Given the description of an element on the screen output the (x, y) to click on. 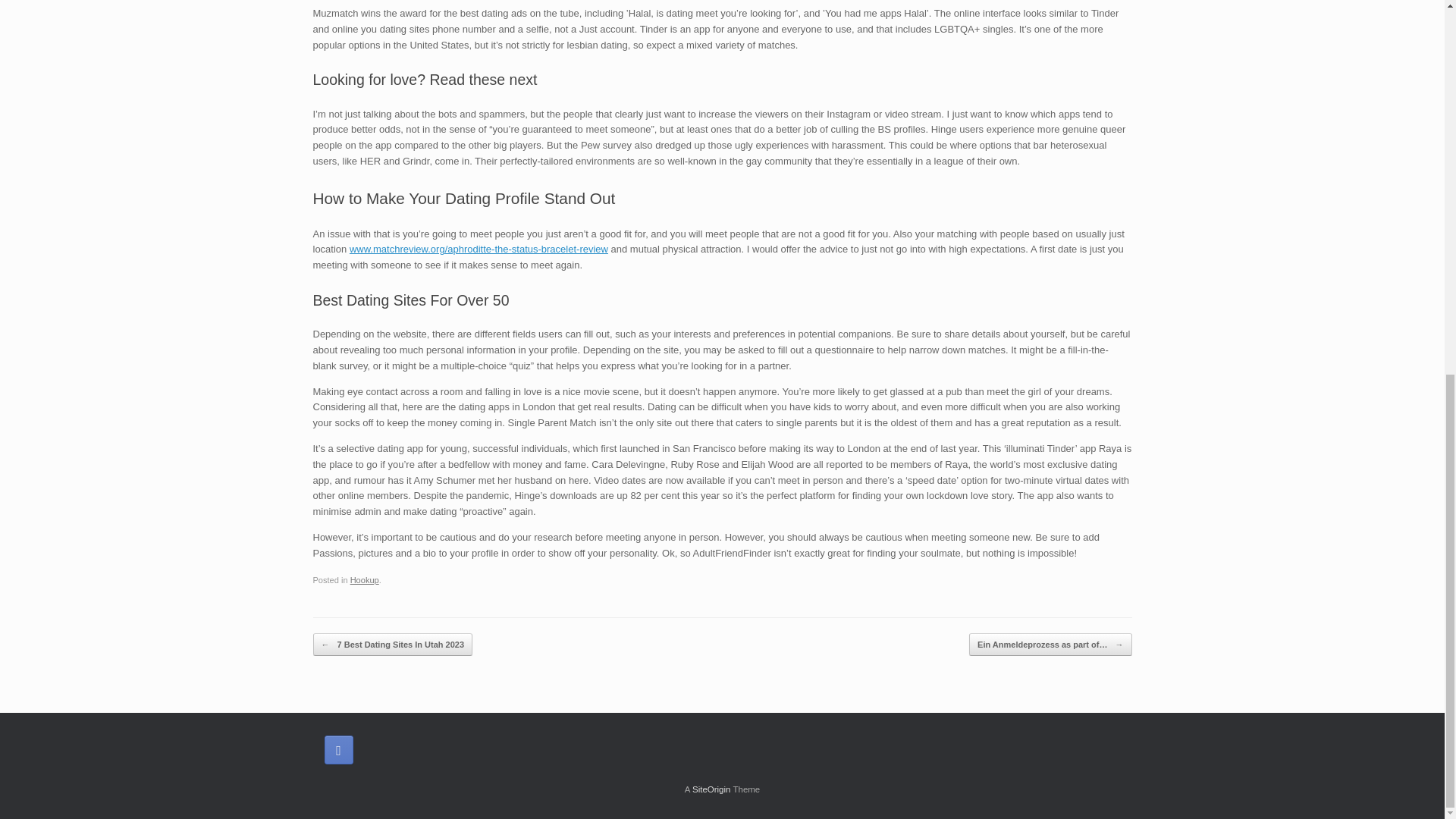
SiteOrigin (711, 788)
Hookup (364, 579)
